Given the description of an element on the screen output the (x, y) to click on. 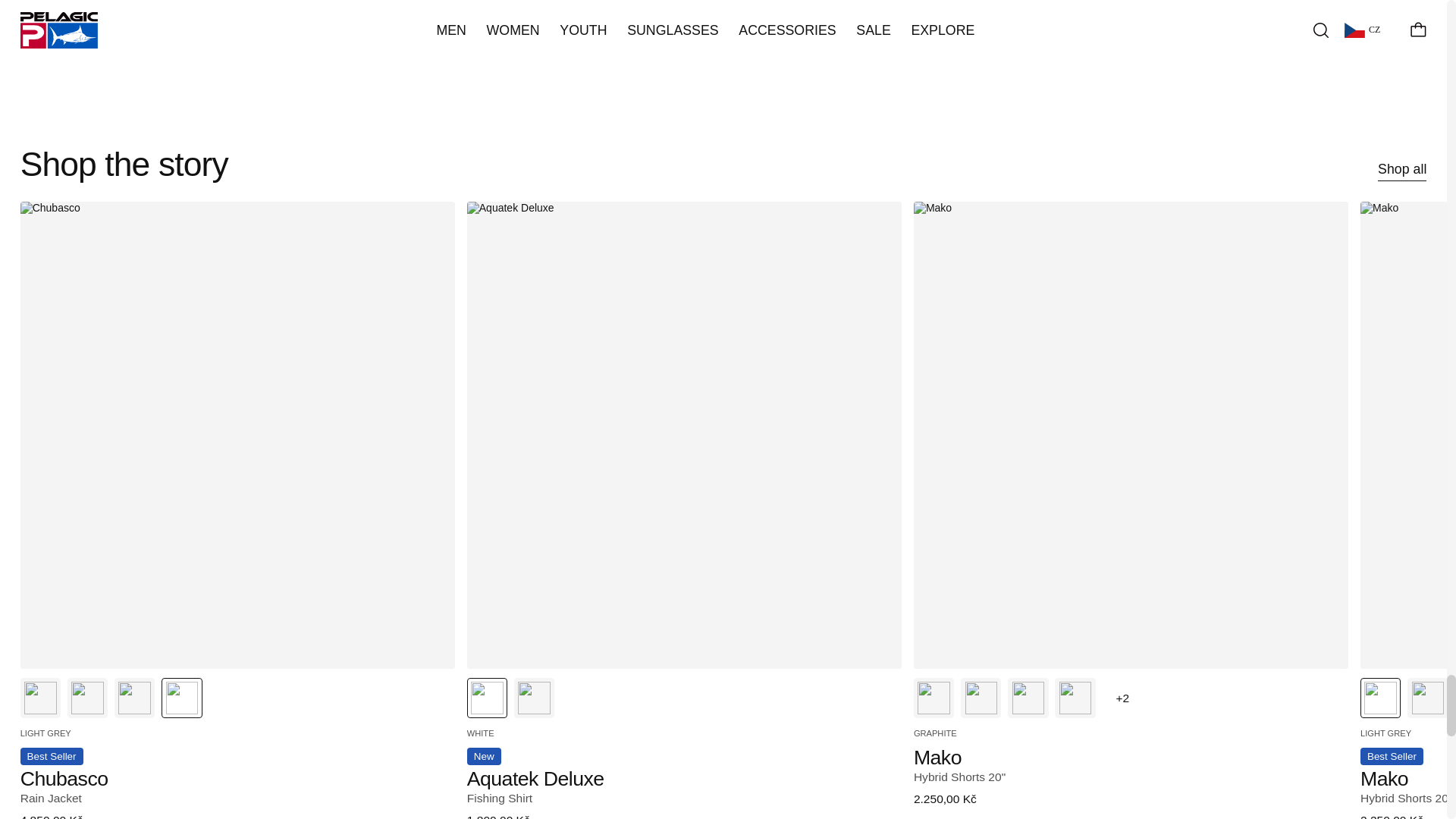
Smokey Blue (134, 698)
Green (86, 698)
Navy (533, 698)
Light Grey (40, 698)
White (486, 698)
Light Grey (181, 698)
View Chubasco in Light Grey product details (237, 775)
